Given the description of an element on the screen output the (x, y) to click on. 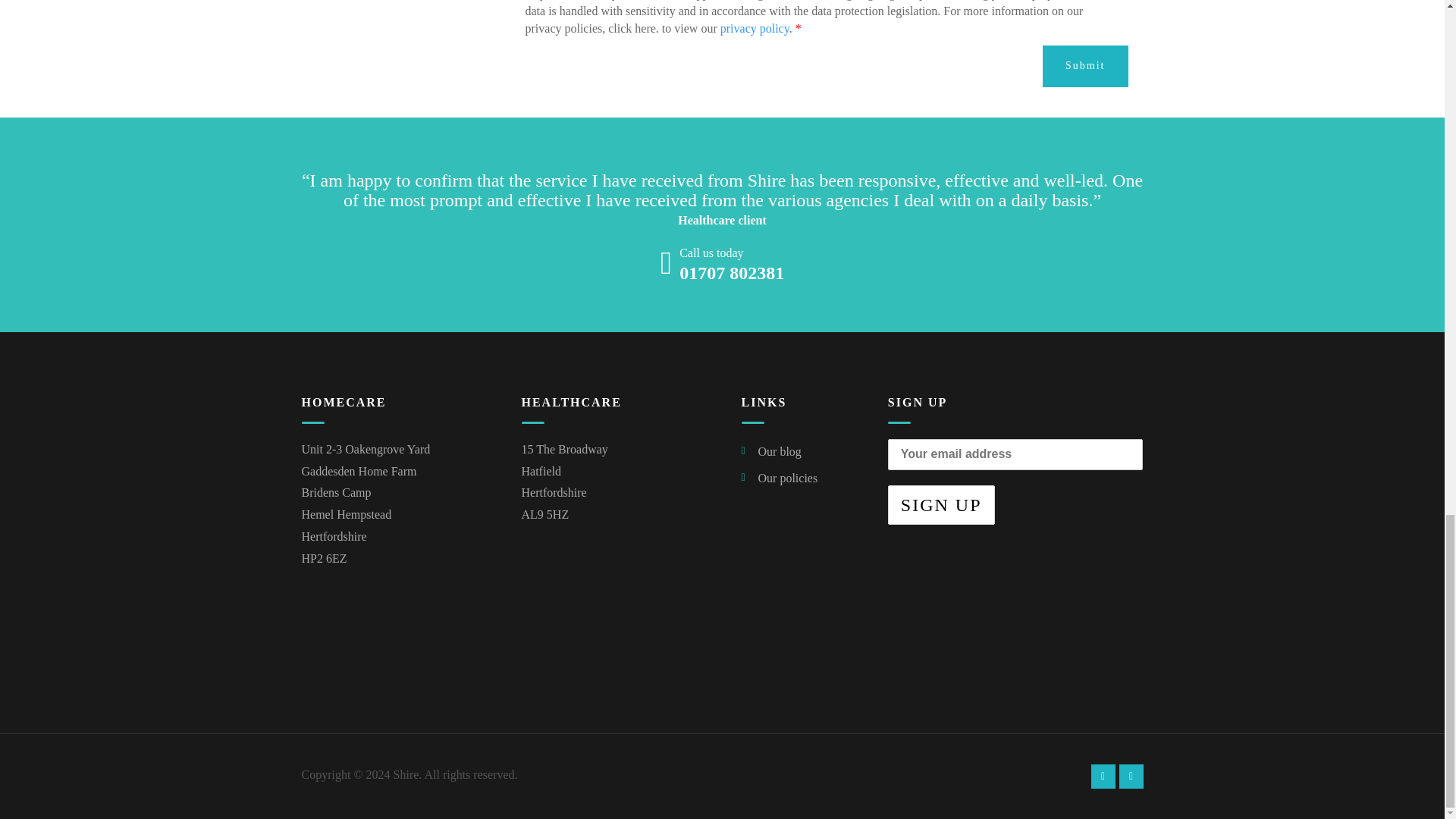
Sign up (941, 504)
